Given the description of an element on the screen output the (x, y) to click on. 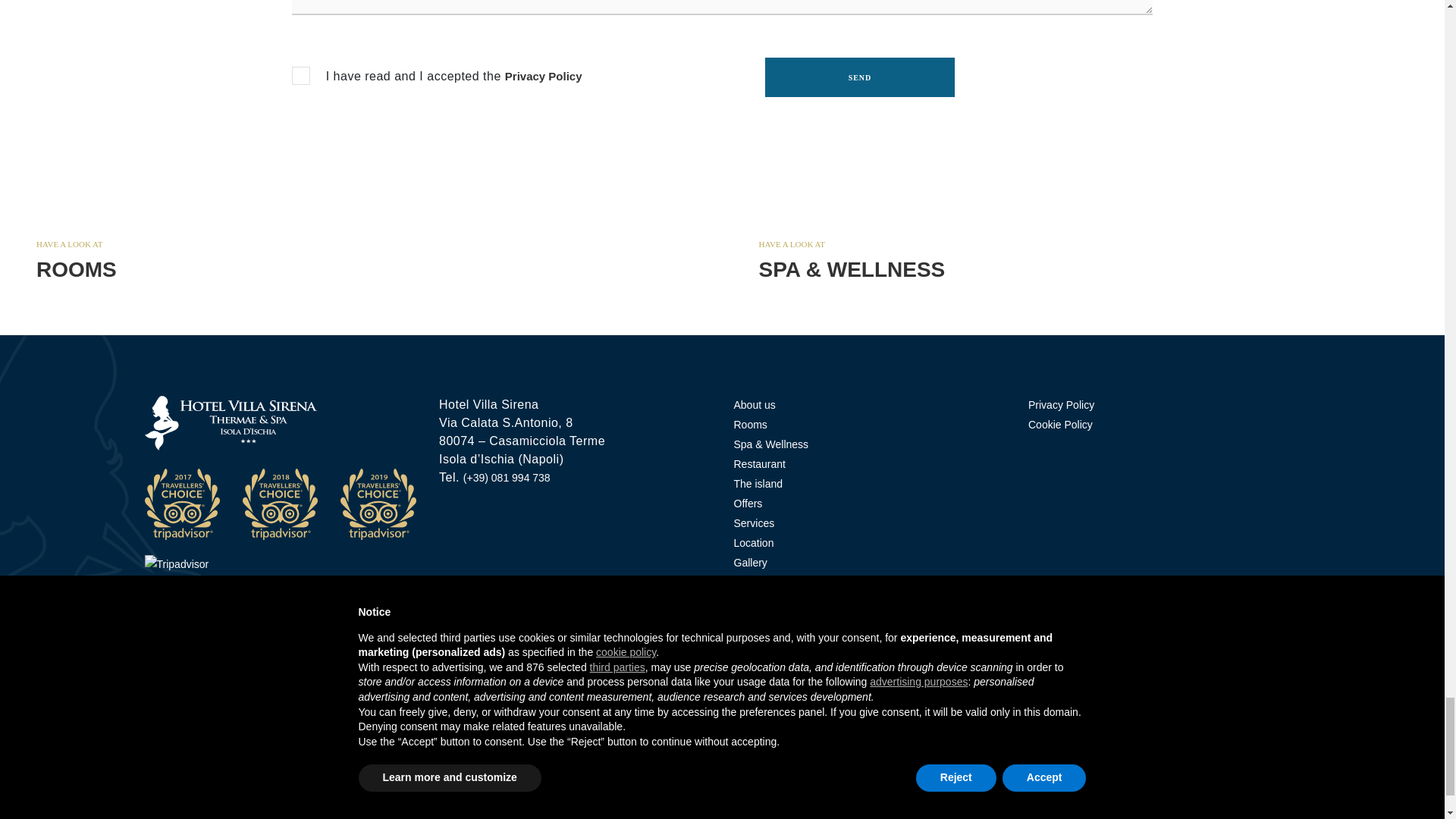
Privacy Policy (543, 75)
Cookie Policy  (1060, 424)
1 (300, 76)
Privacy Policy  (1060, 404)
Restaurant (773, 708)
Privacy Policy  (543, 75)
send (860, 77)
Restaurant (721, 708)
Restaurant (670, 708)
